Given the description of an element on the screen output the (x, y) to click on. 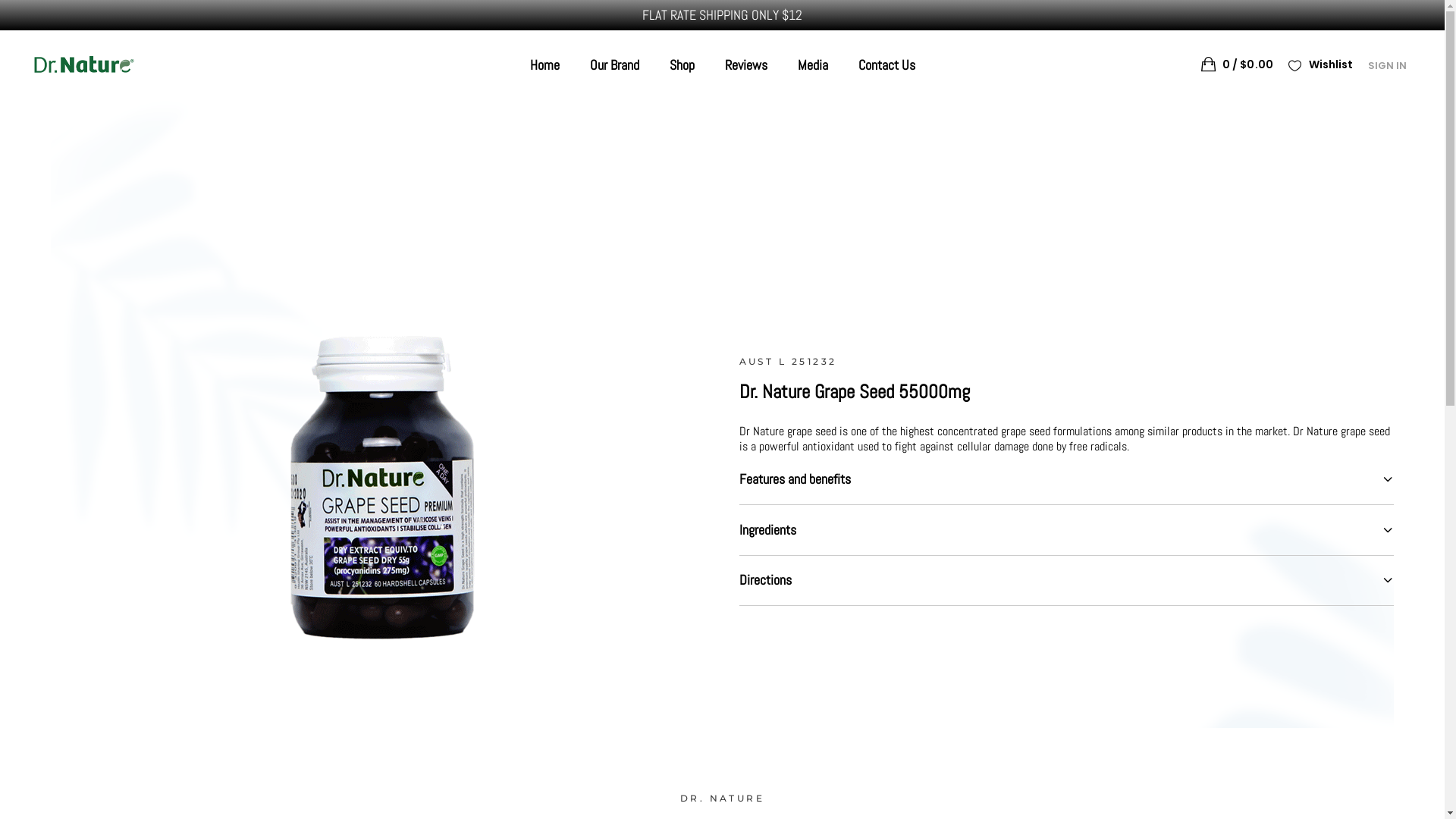
Our Brand Element type: text (758, 668)
0 $0.00 Element type: text (1237, 64)
Facebook Element type: hover (526, 771)
Our Panel Element type: text (758, 718)
Wishlist Element type: text (1320, 64)
13 Element type: hover (386, 462)
Reviews Element type: text (755, 743)
Media Element type: text (749, 768)
SIGN IN Element type: text (1387, 65)
Contact Us Element type: text (886, 64)
Test Element type: hover (592, 770)
Instagram Element type: hover (565, 770)
Our Brand Element type: text (614, 64)
Shop Element type: text (681, 64)
Media Element type: text (812, 64)
Privacy Policy Element type: text (1001, 693)
Test Element type: hover (592, 780)
Facebook Element type: hover (526, 771)
Home Element type: text (748, 643)
Instagram Element type: hover (565, 780)
Home Element type: text (544, 64)
Shop Element type: text (746, 693)
Reviews Element type: text (745, 64)
Contact Us Element type: text (762, 793)
Returns Policy Element type: text (1002, 668)
Shipping & Delivery Element type: text (1015, 643)
